Given the description of an element on the screen output the (x, y) to click on. 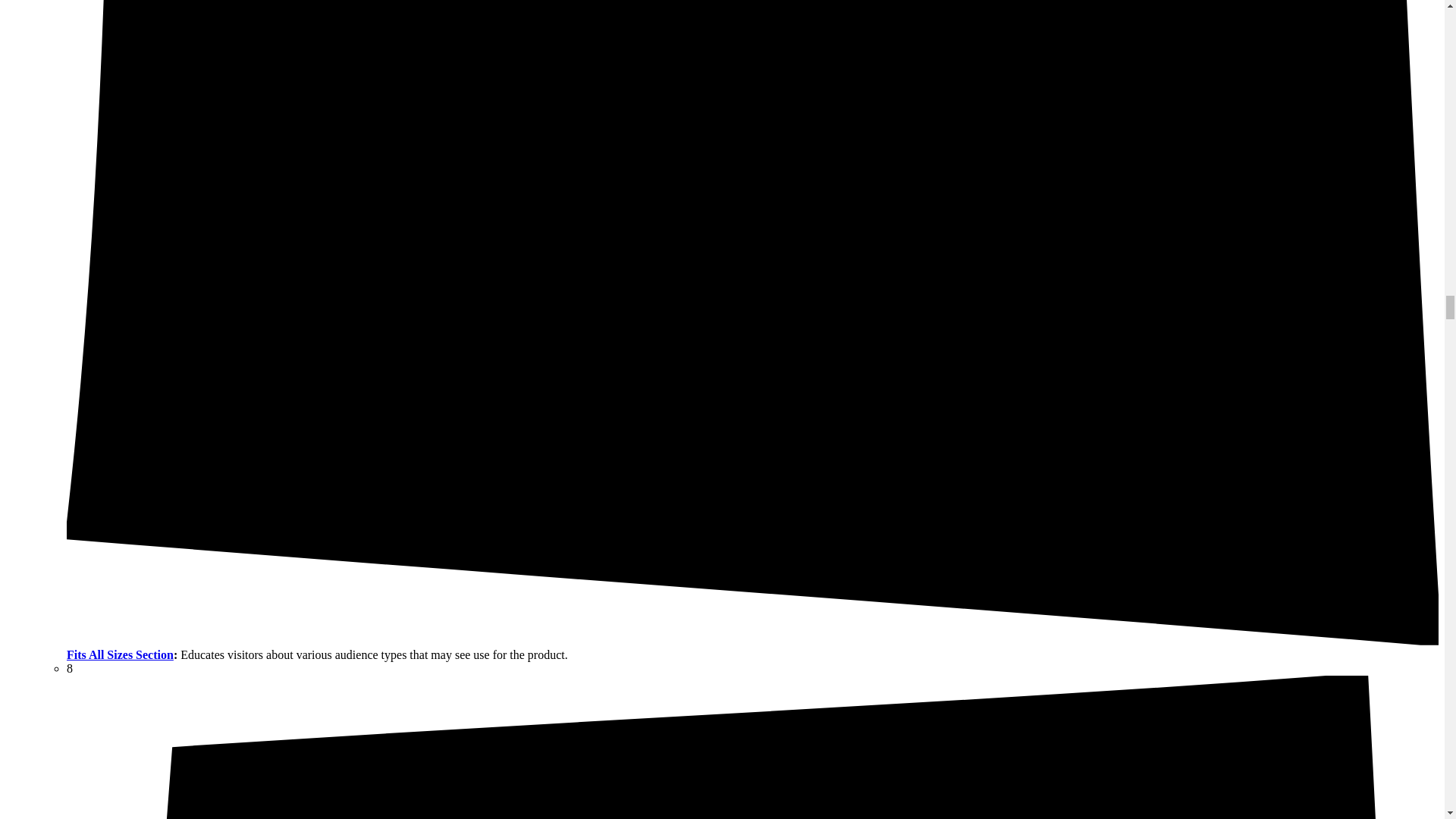
Fits All Sizes Section (119, 654)
Couch Gamers - Fits All Sizes (119, 654)
